Given the description of an element on the screen output the (x, y) to click on. 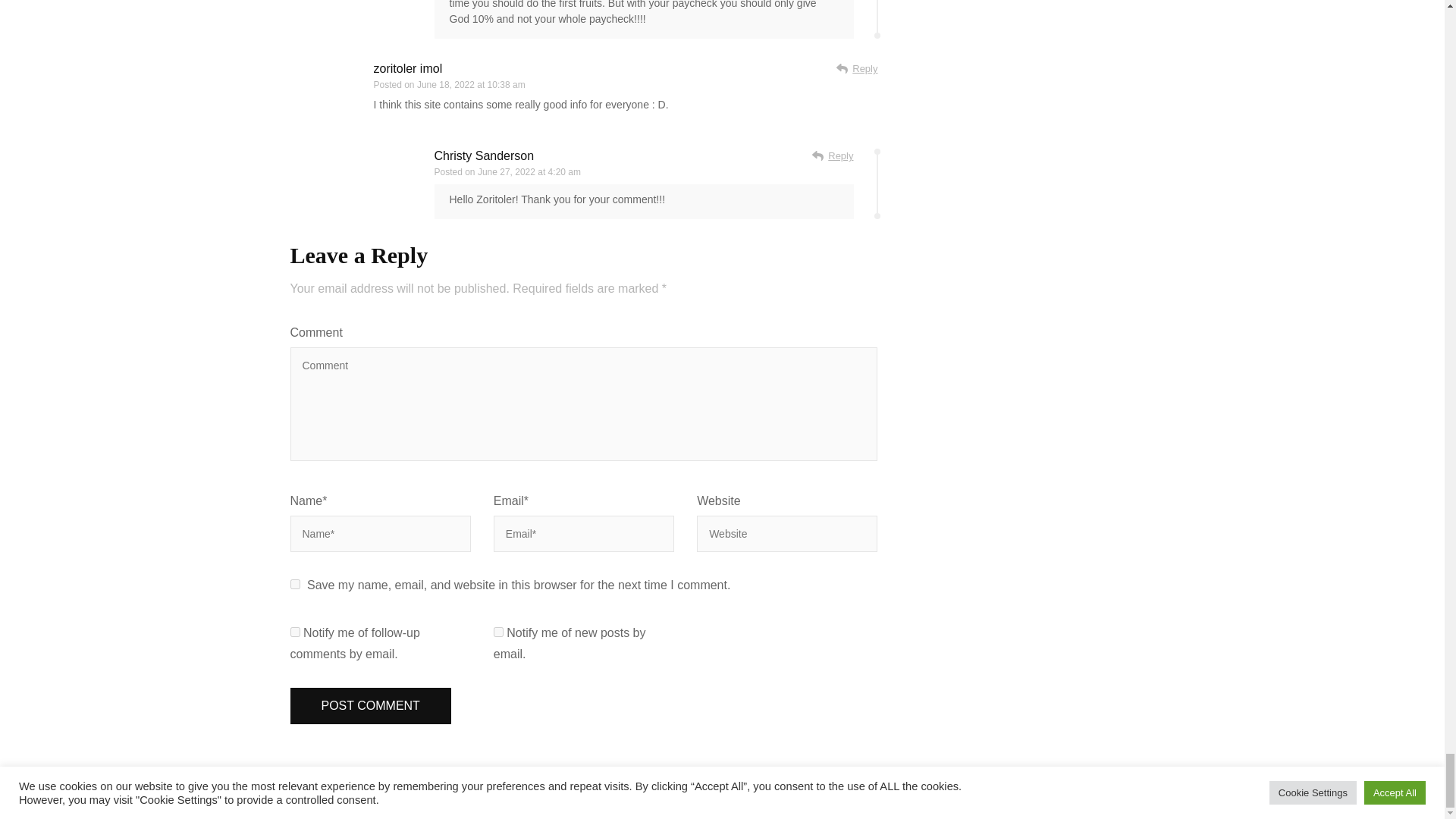
subscribe (498, 632)
yes (294, 583)
Post Comment (369, 705)
subscribe (294, 632)
